Given the description of an element on the screen output the (x, y) to click on. 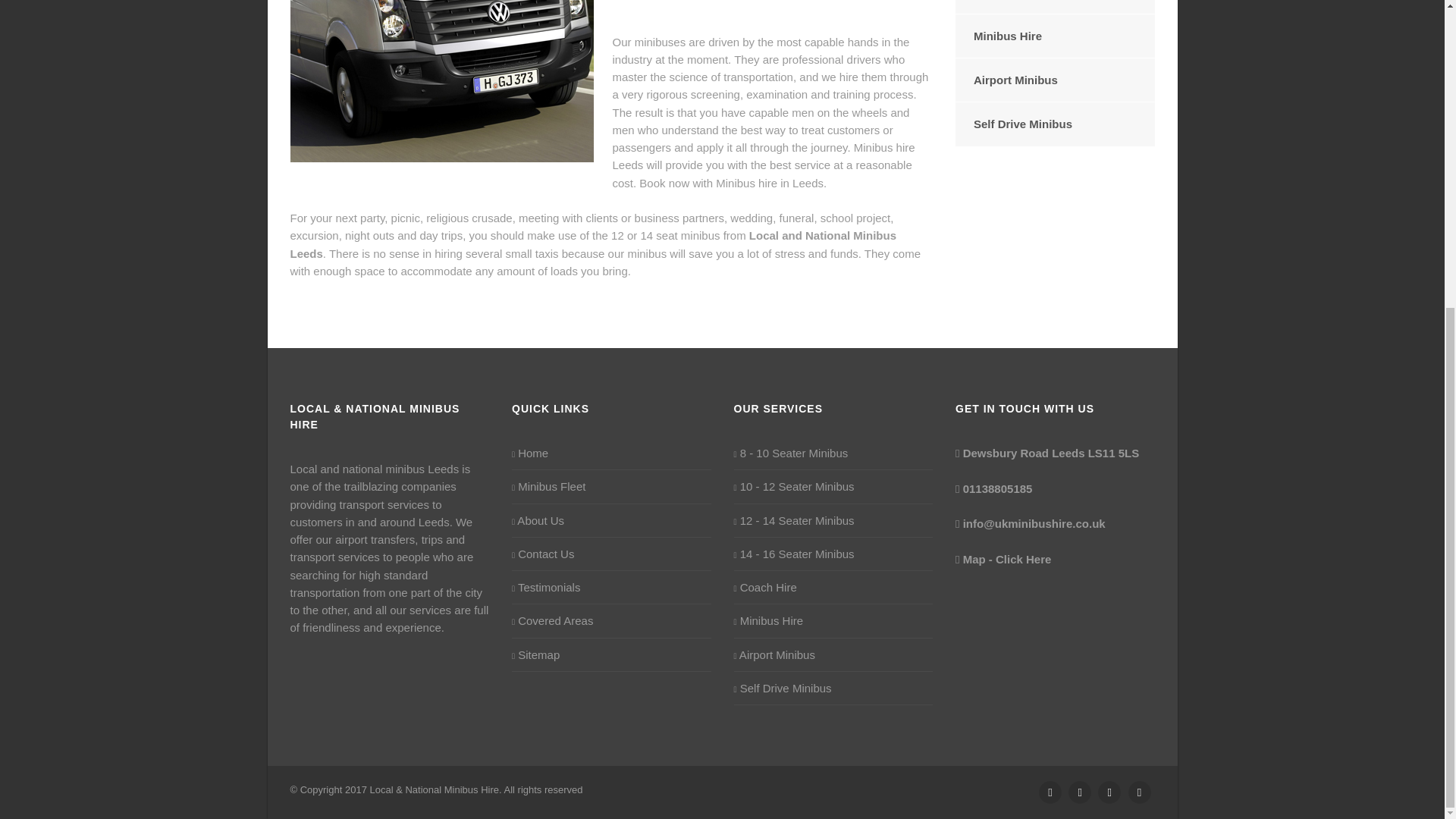
12 - 14 Seater Minibus (793, 520)
Minibus Hire (1054, 35)
About Us (538, 520)
Airport Minibus (774, 654)
8 - 10 Seater Minibus (790, 452)
Self Drive Minibus (782, 687)
14 - 16 Seater Minibus (793, 553)
Home (530, 452)
Self Drive Minibus (1054, 123)
Coach Hire (764, 587)
Airport Minibus (1054, 79)
Testimonials (545, 587)
Minibus Hire (768, 620)
Contact Us (542, 553)
Coach Hire (1054, 6)
